Given the description of an element on the screen output the (x, y) to click on. 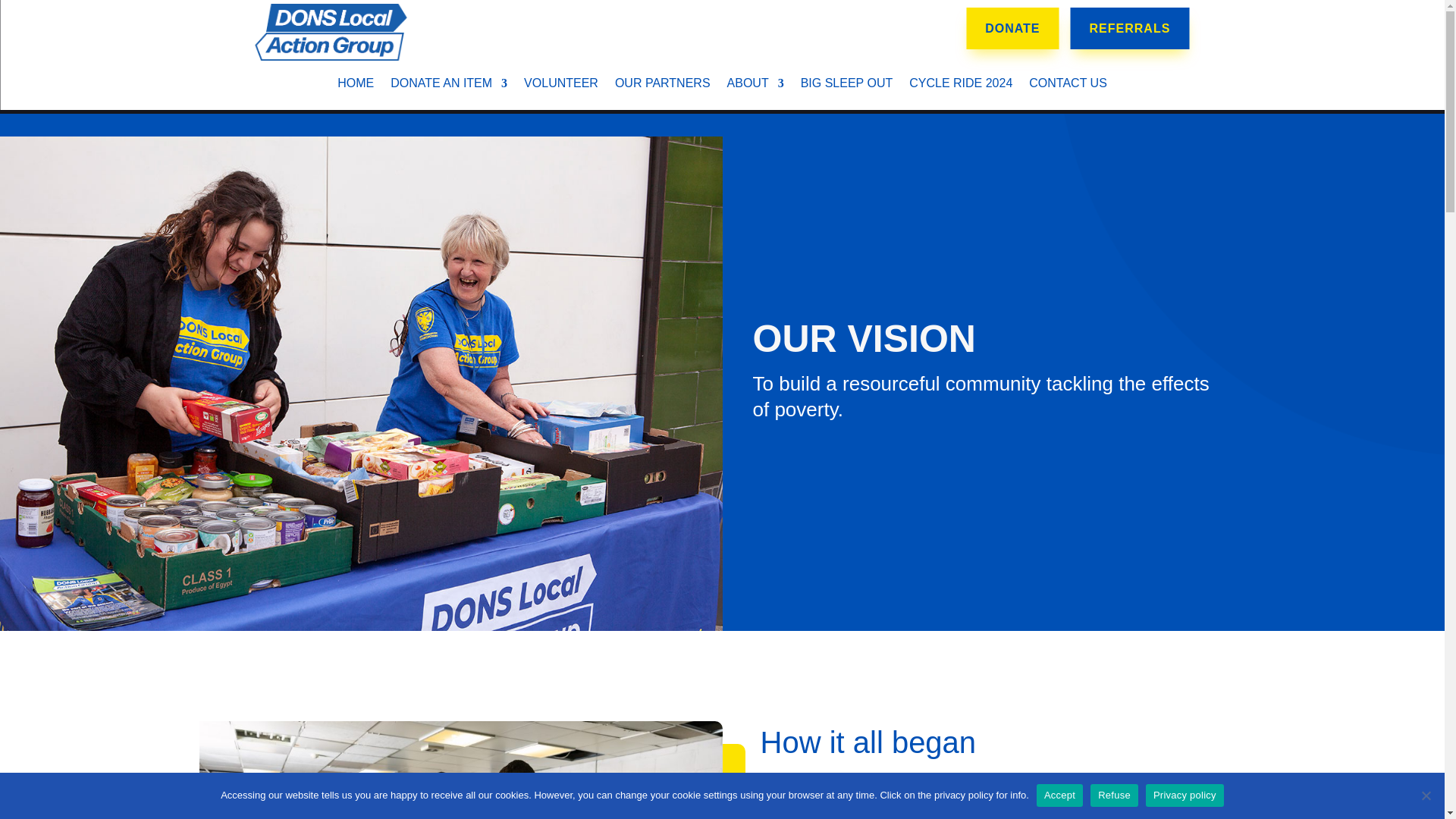
VOLUNTEER (561, 86)
DONATE (1012, 28)
HOME (355, 86)
Volunteers Arya and Amit packing fruit at the hub (460, 770)
BIG SLEEP OUT (846, 86)
CYCLE RIDE 2024 (959, 86)
ABOUT (755, 86)
DONATE AN ITEM (448, 86)
OUR PARTNERS (662, 86)
Refuse (1425, 795)
CONTACT US (1067, 86)
REFERRALS (1129, 28)
